Given the description of an element on the screen output the (x, y) to click on. 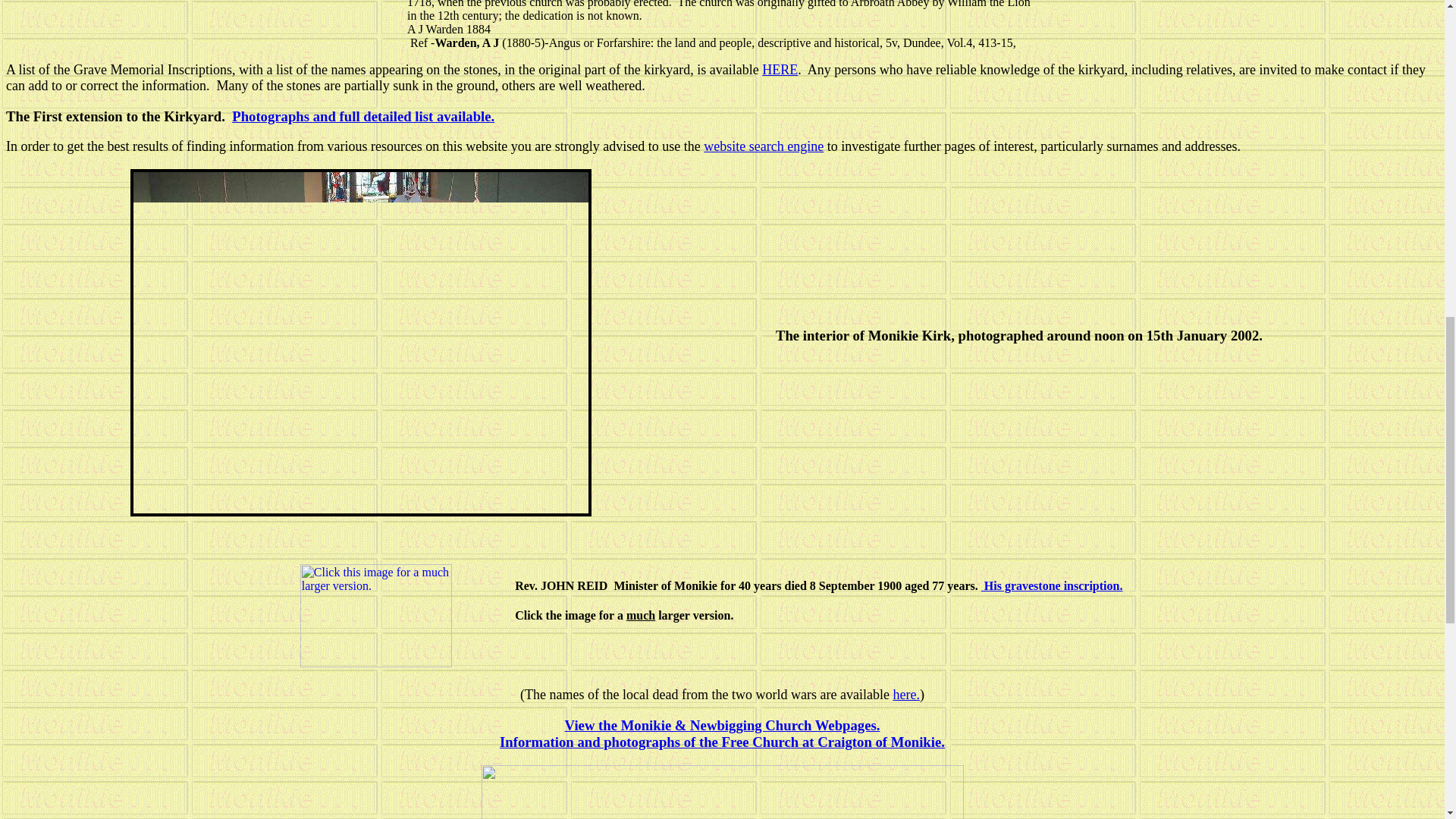
here. (905, 694)
Photographs and full detailed list available. (363, 116)
HERE (779, 69)
His gravestone inscription. (1051, 585)
website search engine (763, 145)
